Given the description of an element on the screen output the (x, y) to click on. 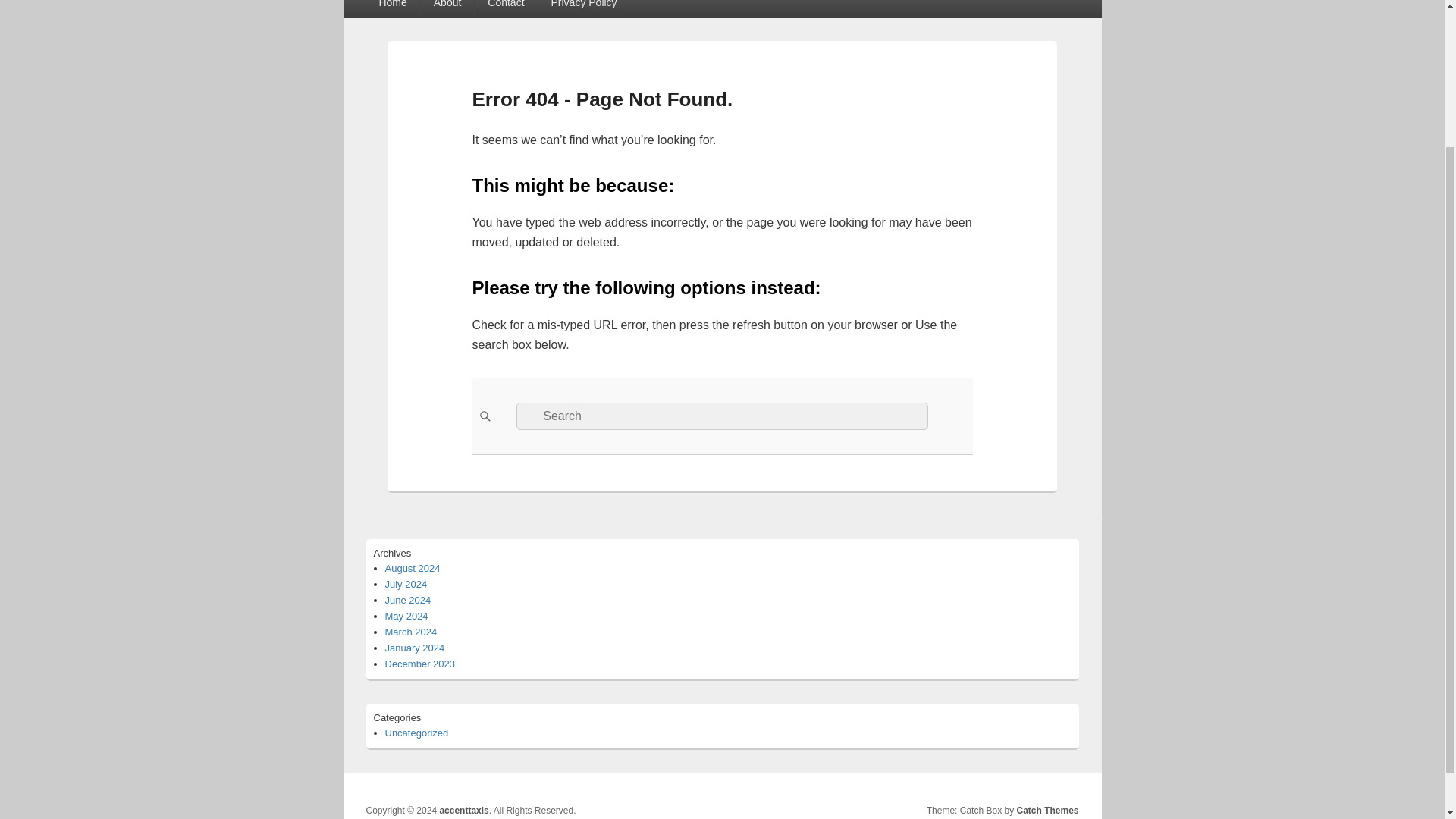
June 2024 (407, 600)
Uncategorized (416, 732)
Catch Themes (1047, 810)
Contact (505, 9)
Catch Themes (1047, 810)
About (447, 9)
Privacy Policy (584, 9)
March 2024 (411, 632)
December 2023 (420, 663)
August 2024 (413, 568)
Home (392, 9)
January 2024 (415, 647)
July 2024 (406, 583)
accenttaxis (463, 810)
accenttaxis (463, 810)
